Given the description of an element on the screen output the (x, y) to click on. 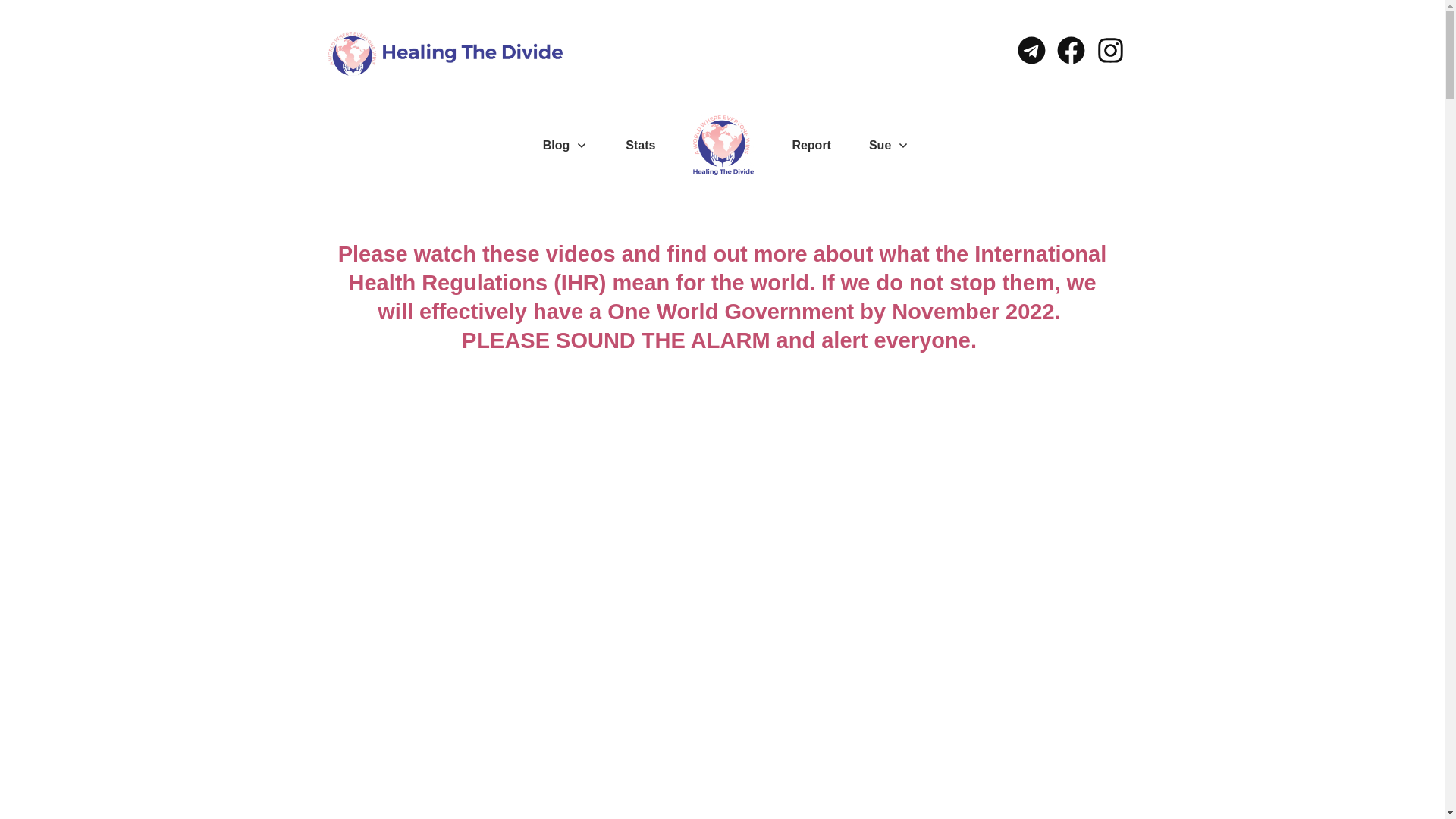
Sue Element type: text (889, 145)
Blog Element type: text (565, 145)
Stats Element type: text (640, 145)
Report Element type: text (811, 145)
